Given the description of an element on the screen output the (x, y) to click on. 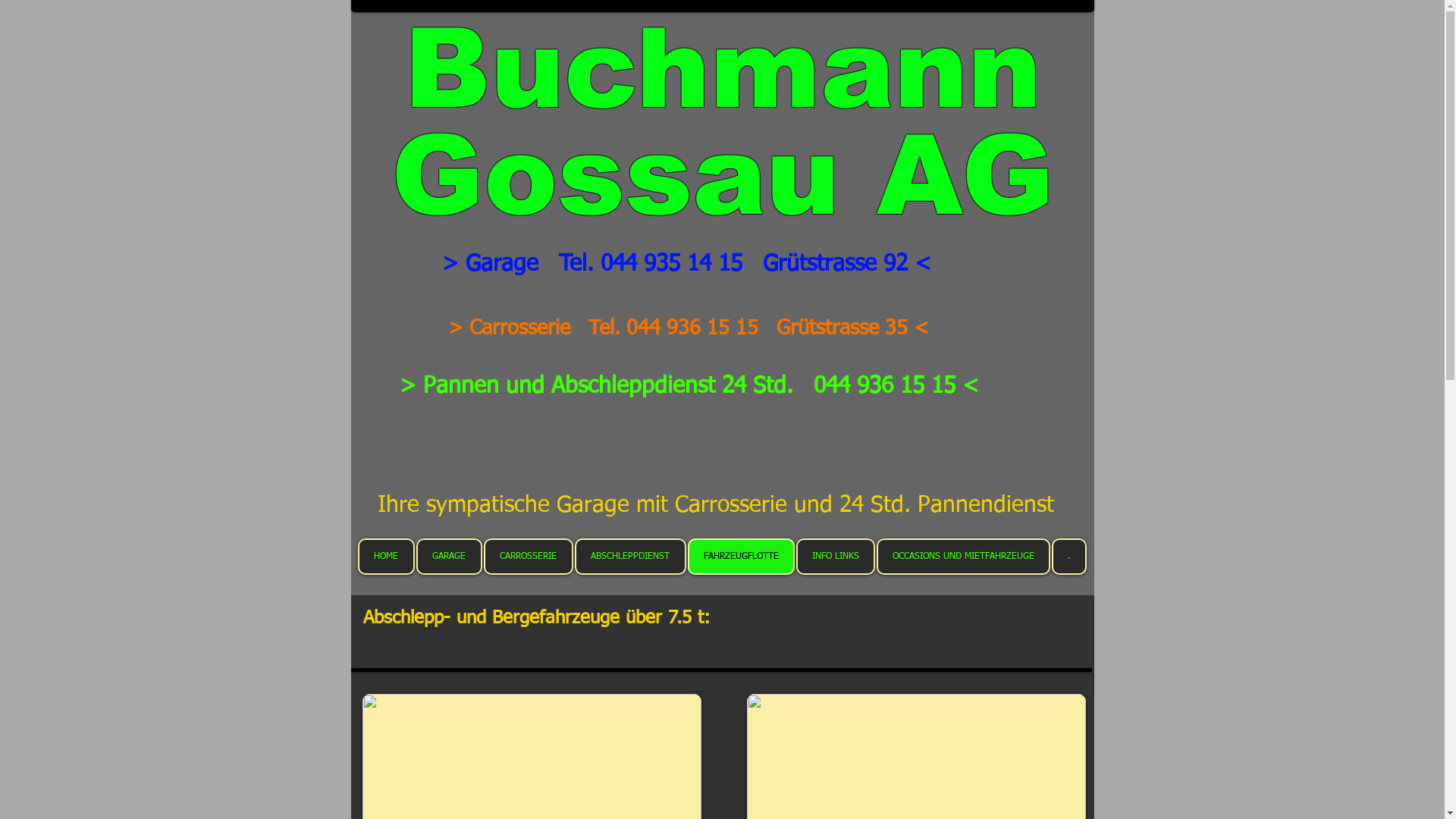
INFO LINKS Element type: text (835, 556)
GARAGE Element type: text (448, 556)
HOME Element type: text (385, 556)
OCCASIONS UND MIETFAHRZEUGE Element type: text (963, 556)
ABSCHLEPPDIENST Element type: text (630, 556)
FAHRZEUGFLOTTE Element type: text (740, 556)
. Element type: text (1068, 556)
CARROSSERIE Element type: text (528, 556)
